Given the description of an element on the screen output the (x, y) to click on. 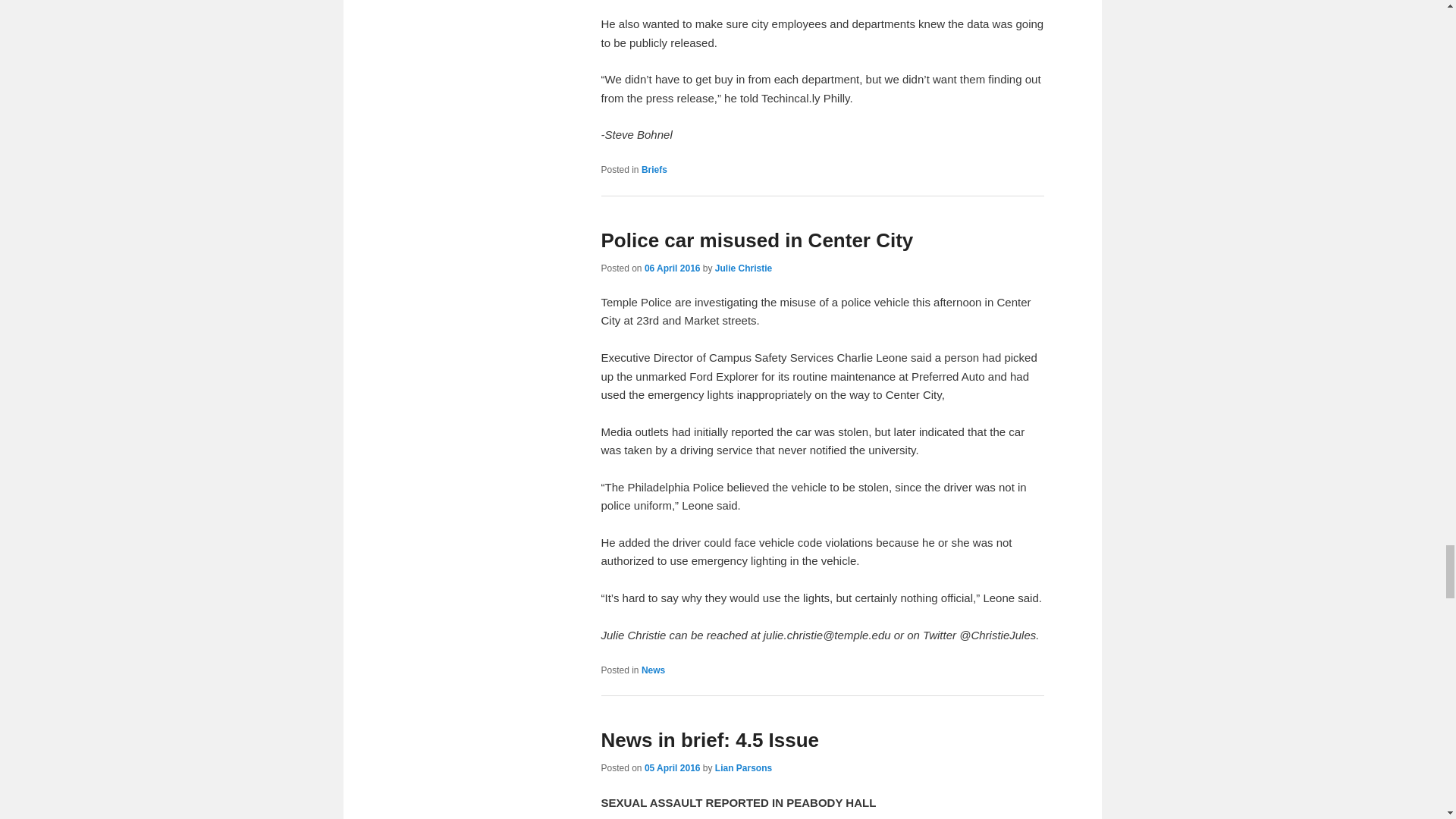
Briefs (654, 169)
Police car misused in Center City (755, 240)
20:37 (672, 267)
View all posts by Julie Christie (742, 267)
15:21 (672, 767)
